Given the description of an element on the screen output the (x, y) to click on. 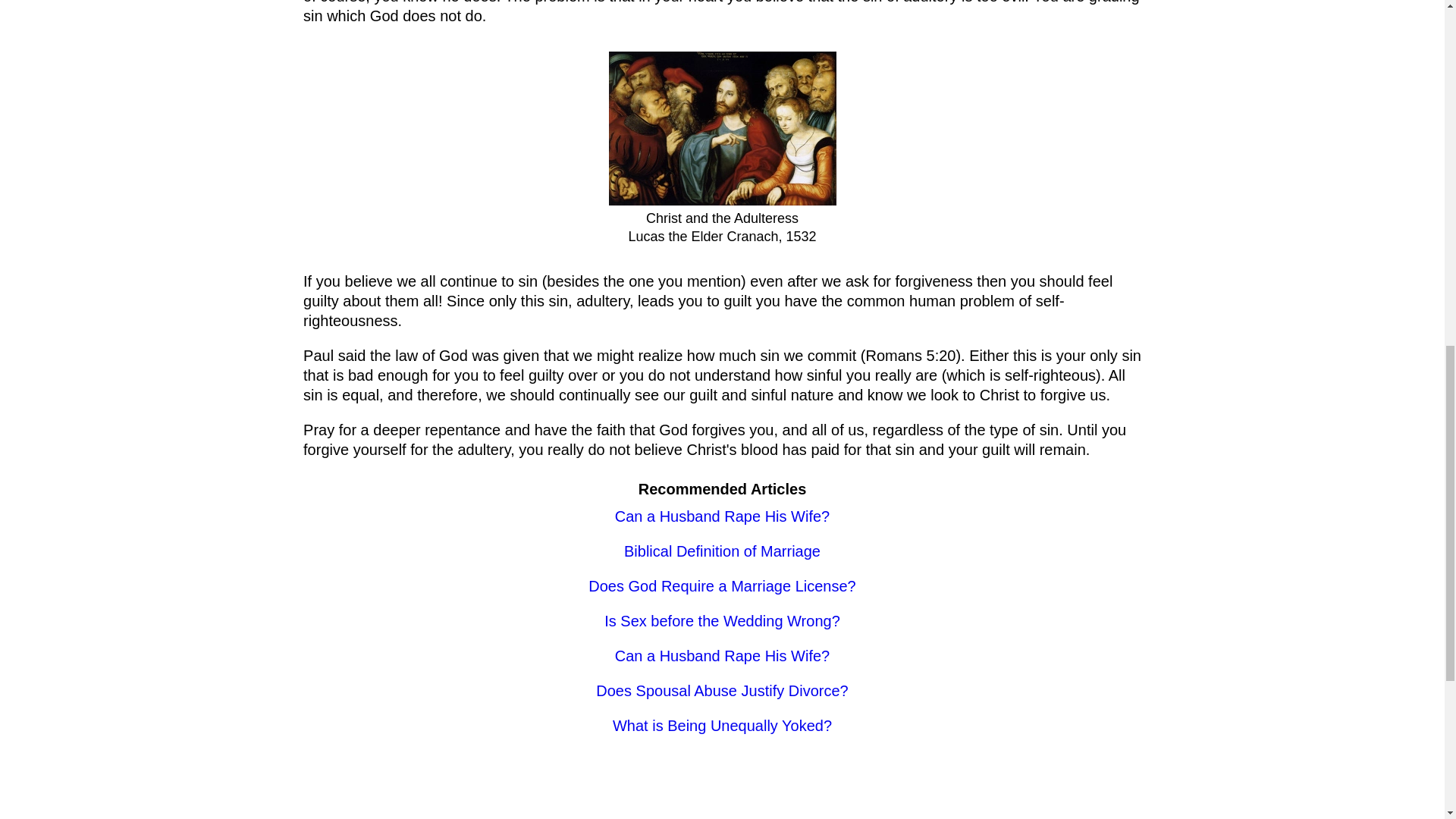
Does Spousal Abuse Justify Divorce? (721, 690)
Is Sex before the Wedding Wrong? (722, 620)
Biblical Definition of Marriage (722, 550)
Can a Husband Rape His Wife? (721, 655)
What is Being Unequally Yoked? (721, 725)
Can a Husband Rape His Wife? (721, 515)
Does God Require a Marriage License? (722, 586)
